Given the description of an element on the screen output the (x, y) to click on. 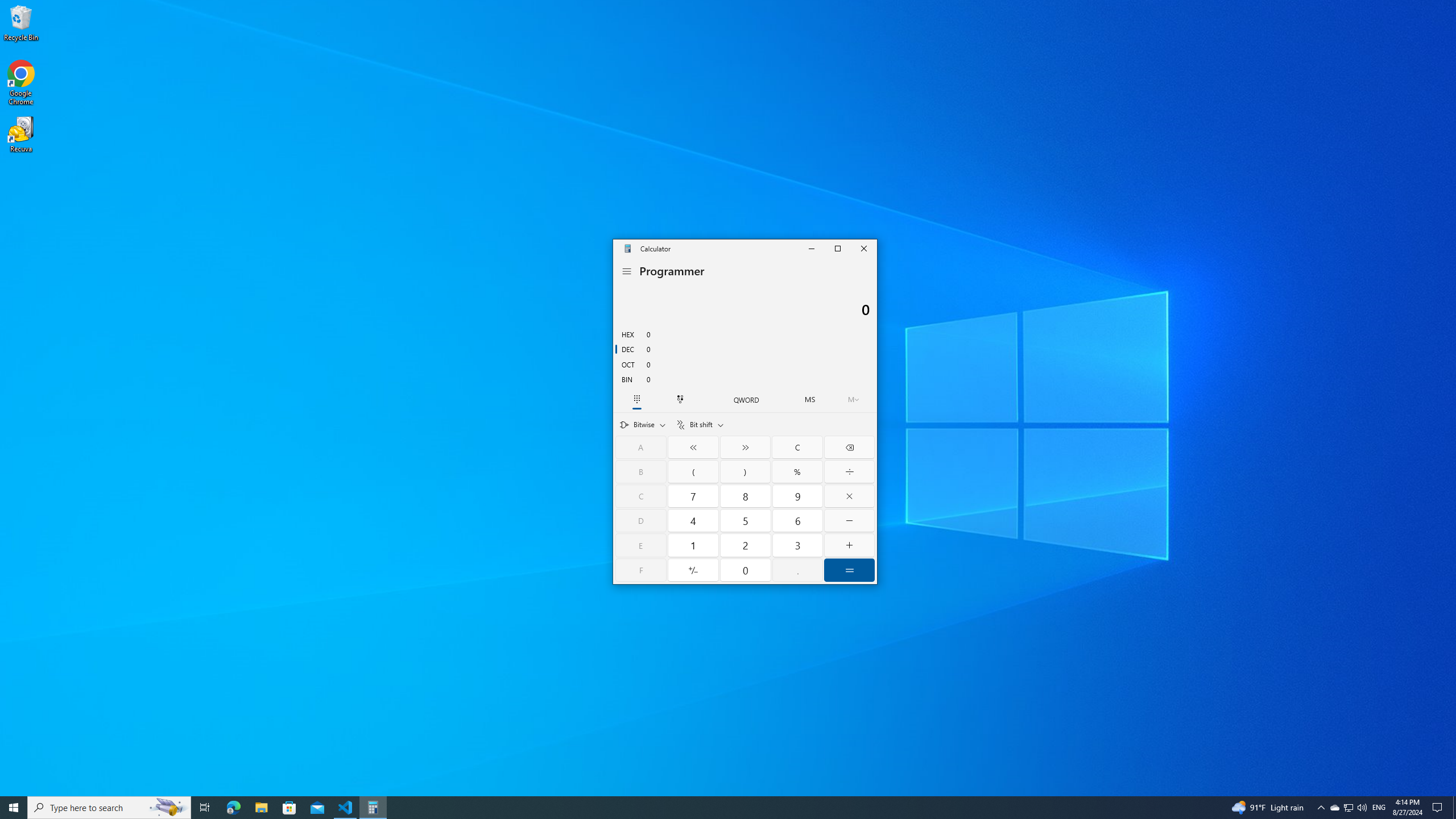
Nine (796, 495)
Bit toggling keypad (680, 399)
Clear (796, 446)
Octal 0  (745, 363)
Decimal separator (796, 569)
A (640, 446)
Positive negative (693, 569)
Full keypad (636, 399)
Equals (849, 569)
